Given the description of an element on the screen output the (x, y) to click on. 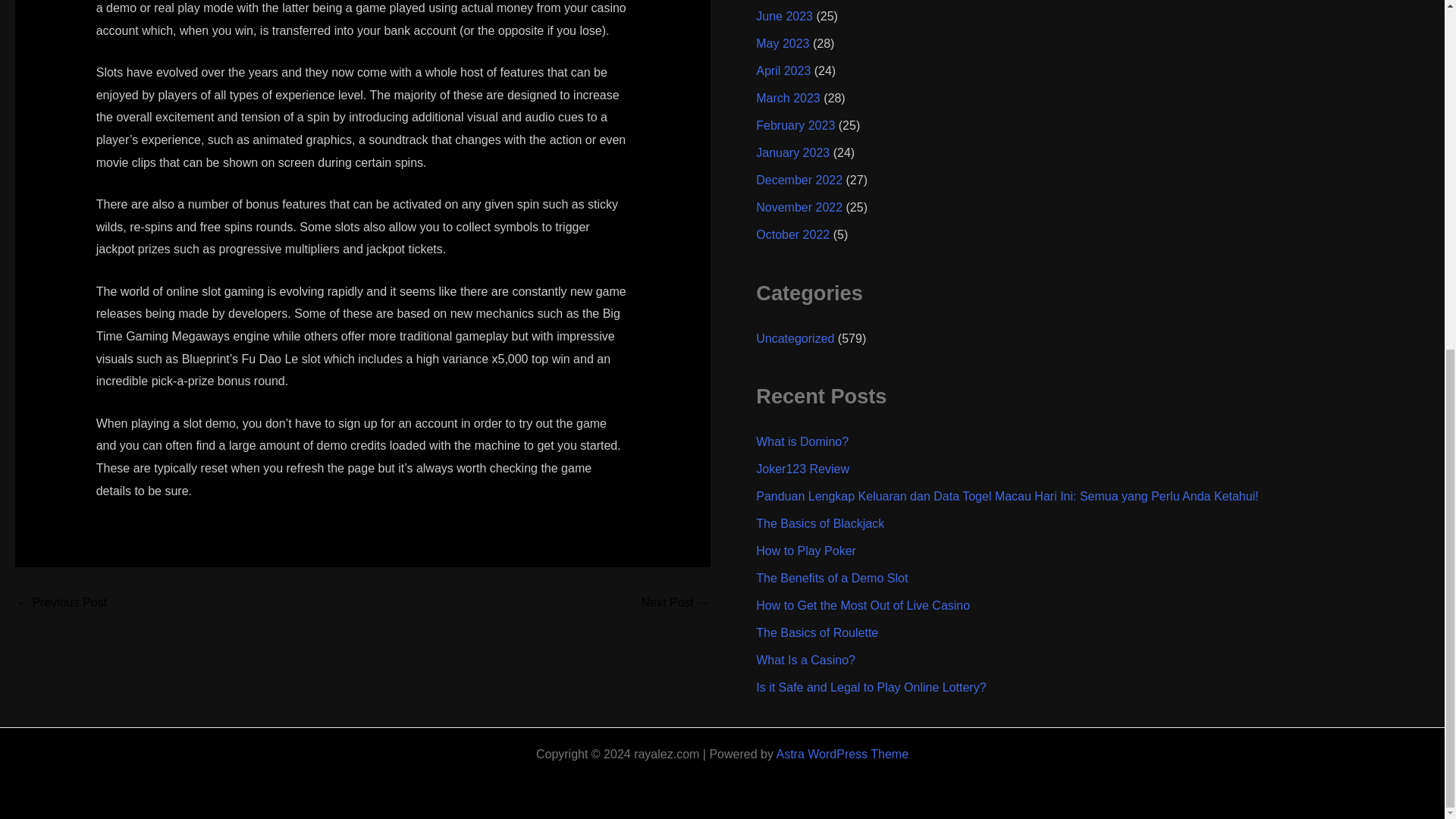
February 2023 (794, 124)
March 2023 (788, 97)
November 2022 (799, 206)
May 2023 (782, 42)
January 2023 (792, 152)
December 2022 (799, 179)
Benefits of Playing Online Poker (674, 603)
What is the Lottery? (61, 603)
October 2022 (792, 234)
